Given the description of an element on the screen output the (x, y) to click on. 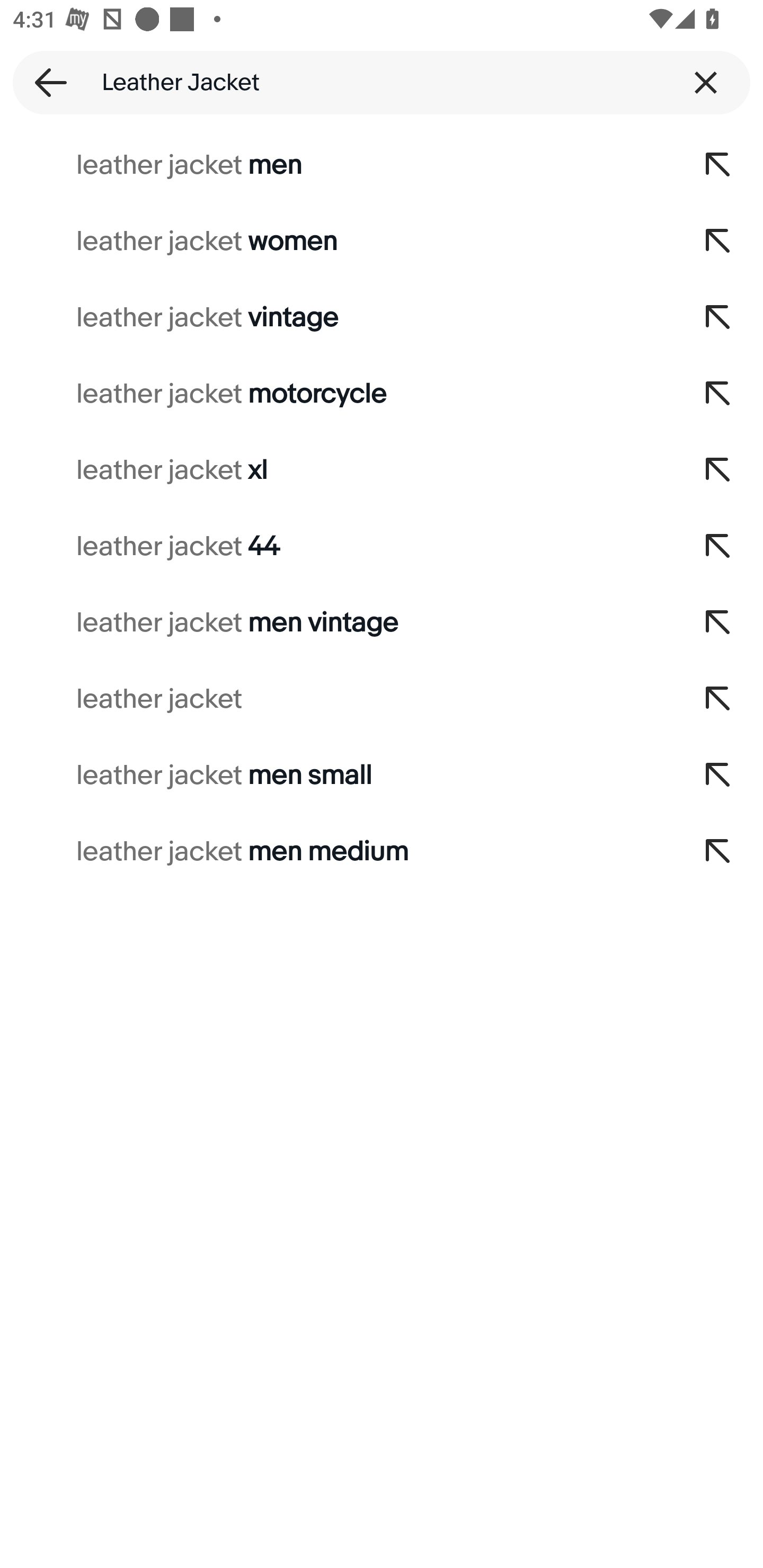
Back (44, 82)
Clear query (705, 82)
Leather Jacket (381, 82)
leather jacket men (336, 165)
Add to search query,leather jacket men (718, 165)
leather jacket women (336, 241)
Add to search query,leather jacket women (718, 241)
leather jacket vintage (336, 317)
Add to search query,leather jacket vintage (718, 317)
leather jacket motorcycle (336, 393)
Add to search query,leather jacket motorcycle (718, 393)
leather jacket xl (336, 470)
Add to search query,leather jacket xl (718, 470)
leather jacket 44 (336, 546)
Add to search query,leather jacket 44 (718, 546)
leather jacket men vintage (336, 622)
Add to search query,leather jacket men vintage (718, 622)
leather jacket (336, 698)
Add to search query,leather jacket (718, 698)
leather jacket men small (336, 774)
